Given the description of an element on the screen output the (x, y) to click on. 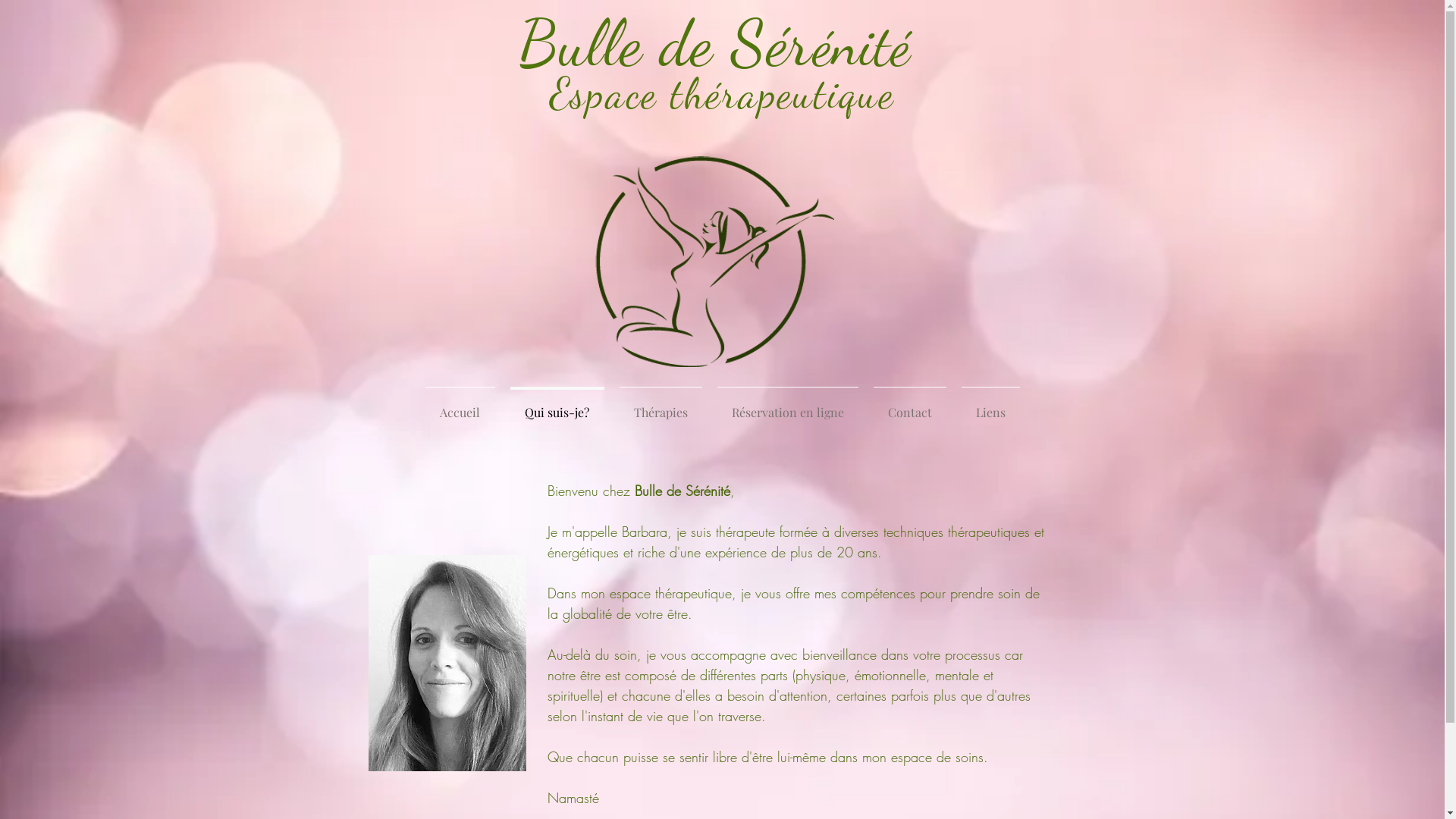
Qui suis-je? Element type: text (556, 405)
Liens Element type: text (990, 405)
Contact Element type: text (909, 405)
Accueil Element type: text (459, 405)
